Given the description of an element on the screen output the (x, y) to click on. 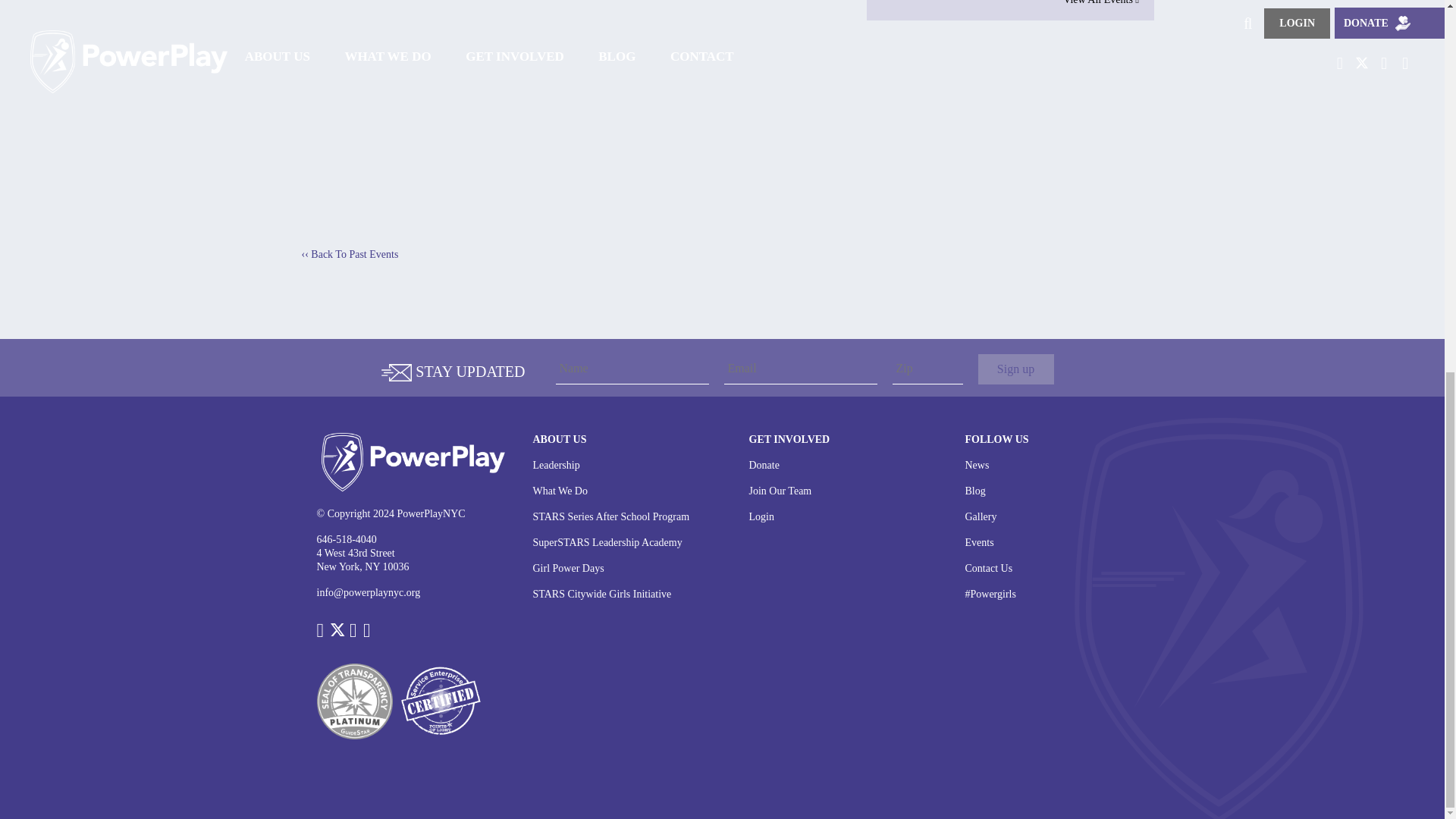
Sign up (1016, 368)
View All Events (1009, 2)
Spark serves with PowerPlay NYC (578, 107)
Sign up (1016, 368)
